Given the description of an element on the screen output the (x, y) to click on. 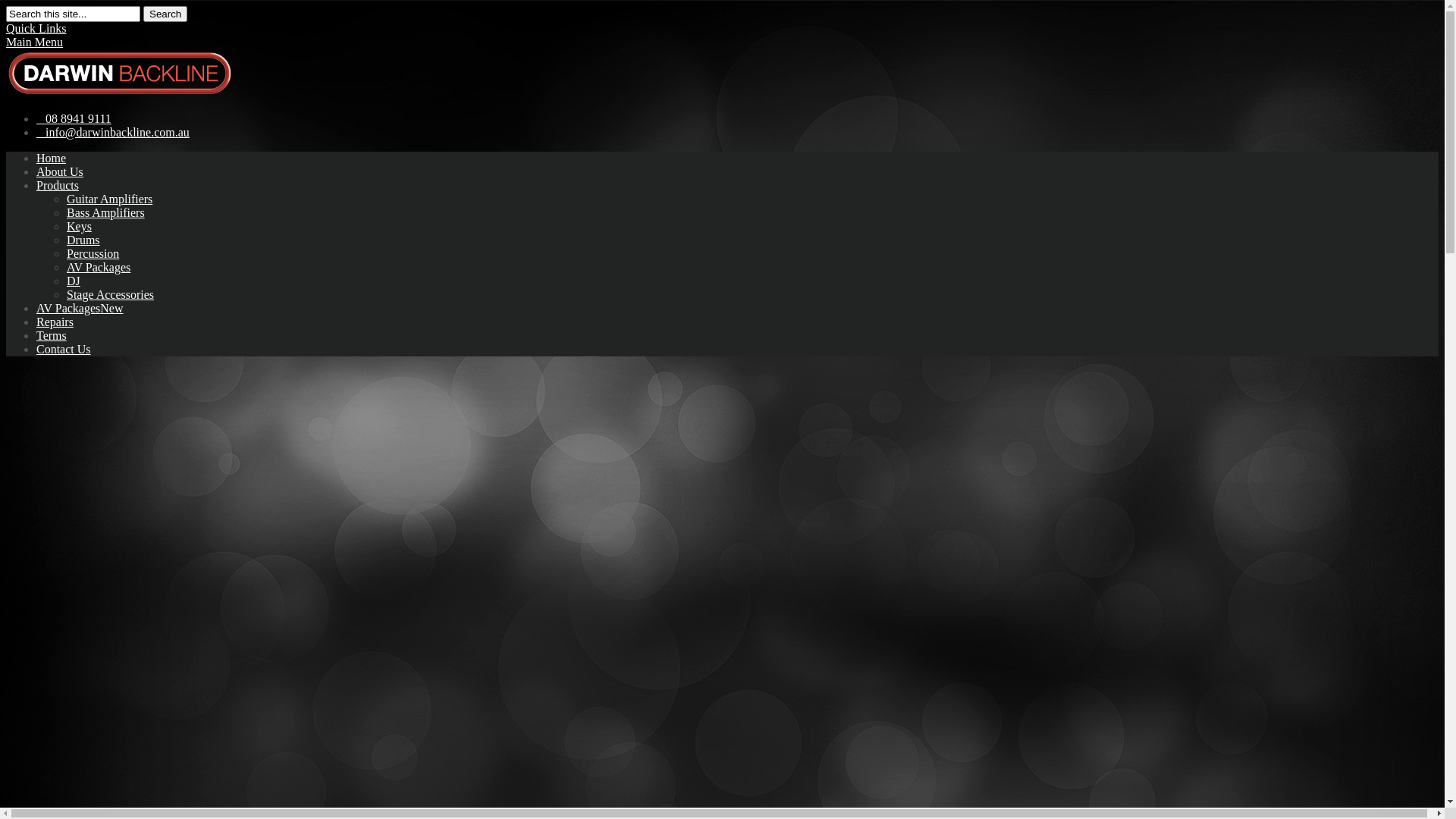
Terms Element type: text (51, 335)
Repairs Element type: text (54, 321)
DJ Element type: text (73, 280)
AV Packages Element type: text (98, 266)
About Us Element type: text (59, 171)
Bass Amplifiers Element type: text (105, 212)
Percussion Element type: text (92, 253)
   info@darwinbackline.com.au Element type: text (112, 131)
Keys Element type: text (78, 225)
Search Element type: text (165, 13)
Home Element type: text (50, 157)
Main Menu Element type: text (34, 41)
Stage Accessories Element type: text (109, 294)
Products Element type: text (57, 184)
AV PackagesNew Element type: text (79, 307)
Contact Us Element type: text (63, 348)
Drums Element type: text (83, 239)
Guitar Amplifiers Element type: text (109, 198)
   08 8941 9111 Element type: text (73, 118)
Quick Links Element type: text (36, 27)
